Given the description of an element on the screen output the (x, y) to click on. 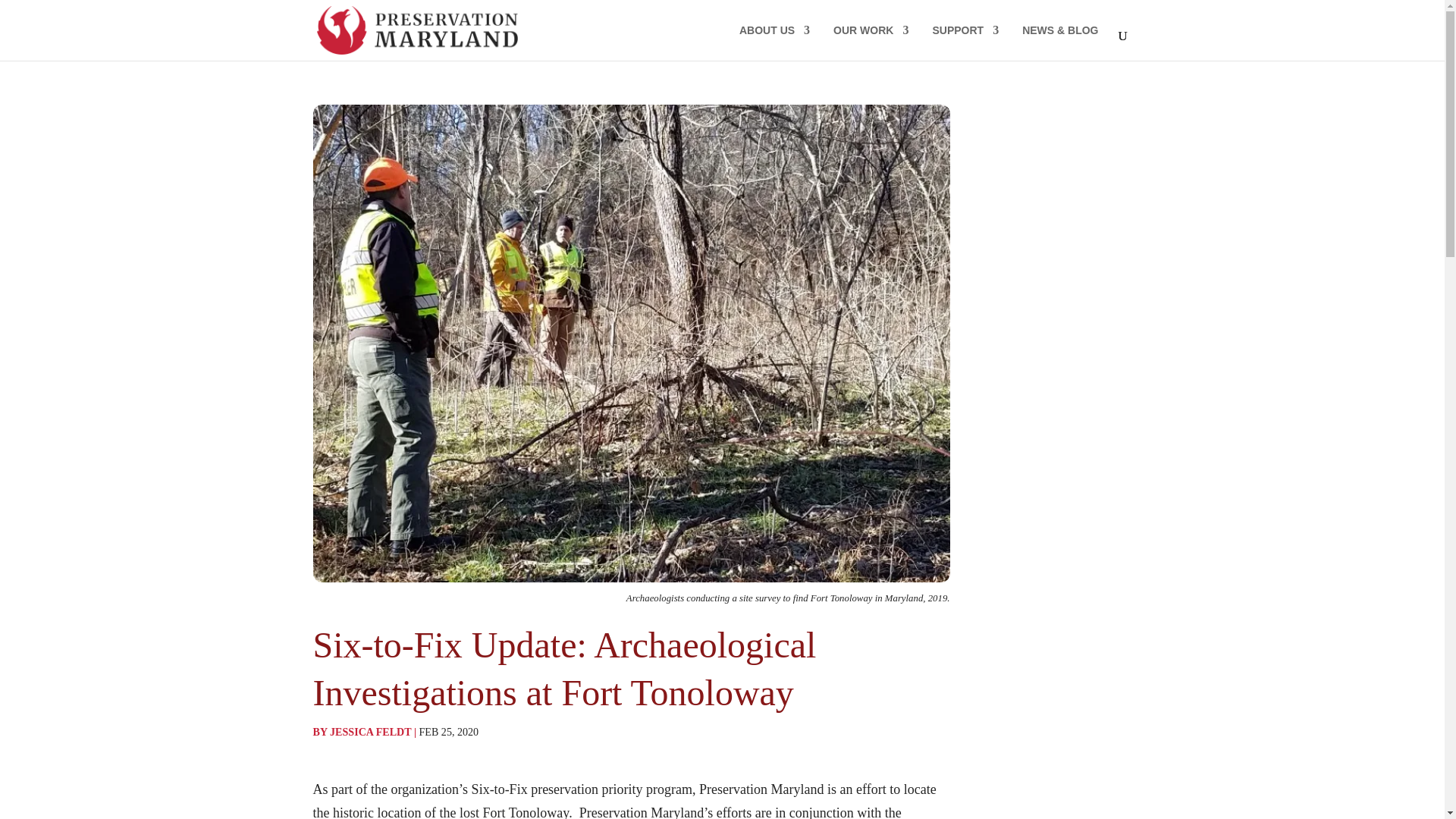
ABOUT US (774, 42)
Posts by Jessica Feldt (370, 731)
OUR WORK (870, 42)
